Given the description of an element on the screen output the (x, y) to click on. 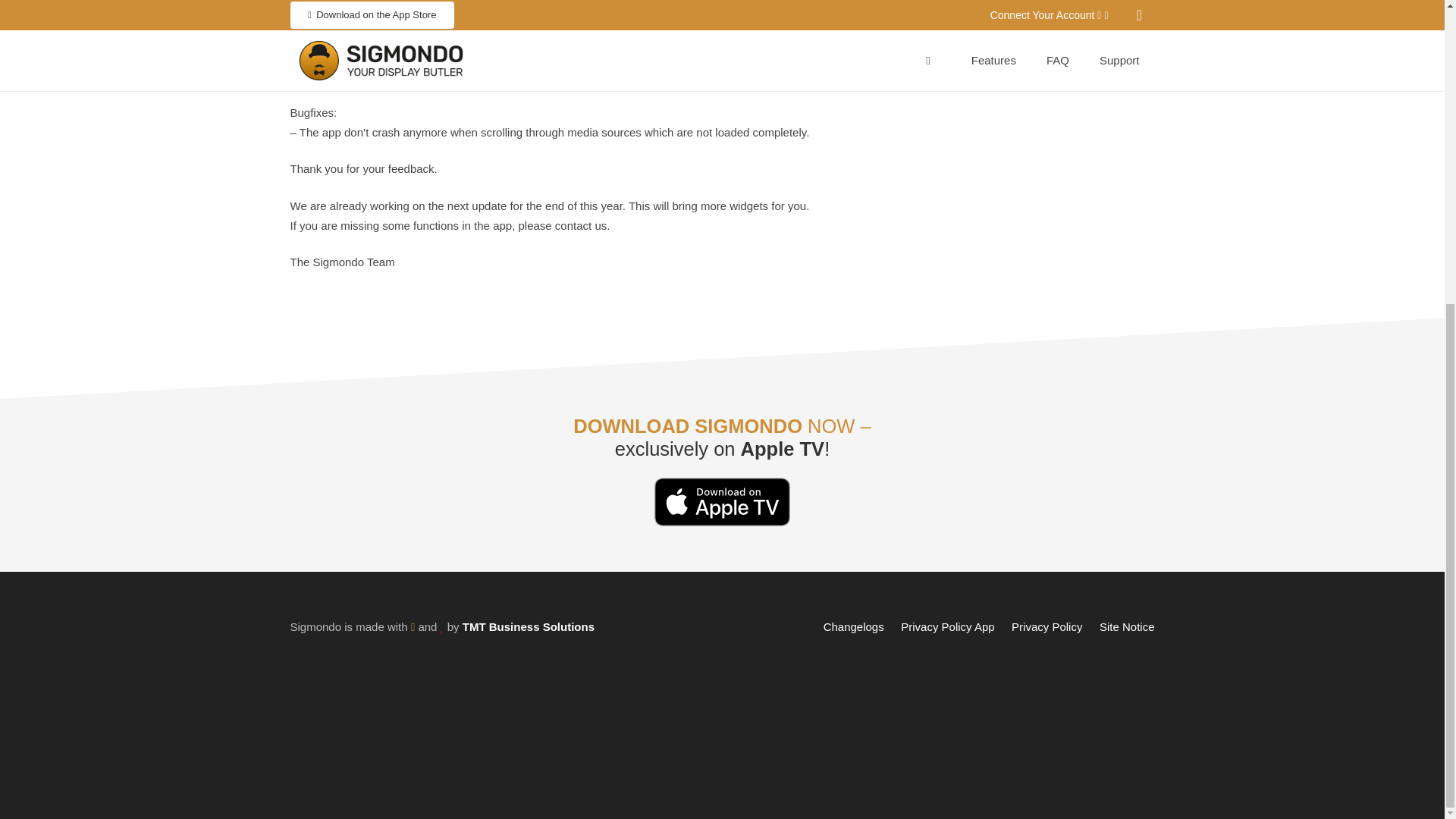
Site Notice (1126, 626)
Privacy Policy App (947, 626)
Changelogs (853, 626)
TMT Business Solutions (528, 626)
Privacy Policy (1046, 626)
